Given the description of an element on the screen output the (x, y) to click on. 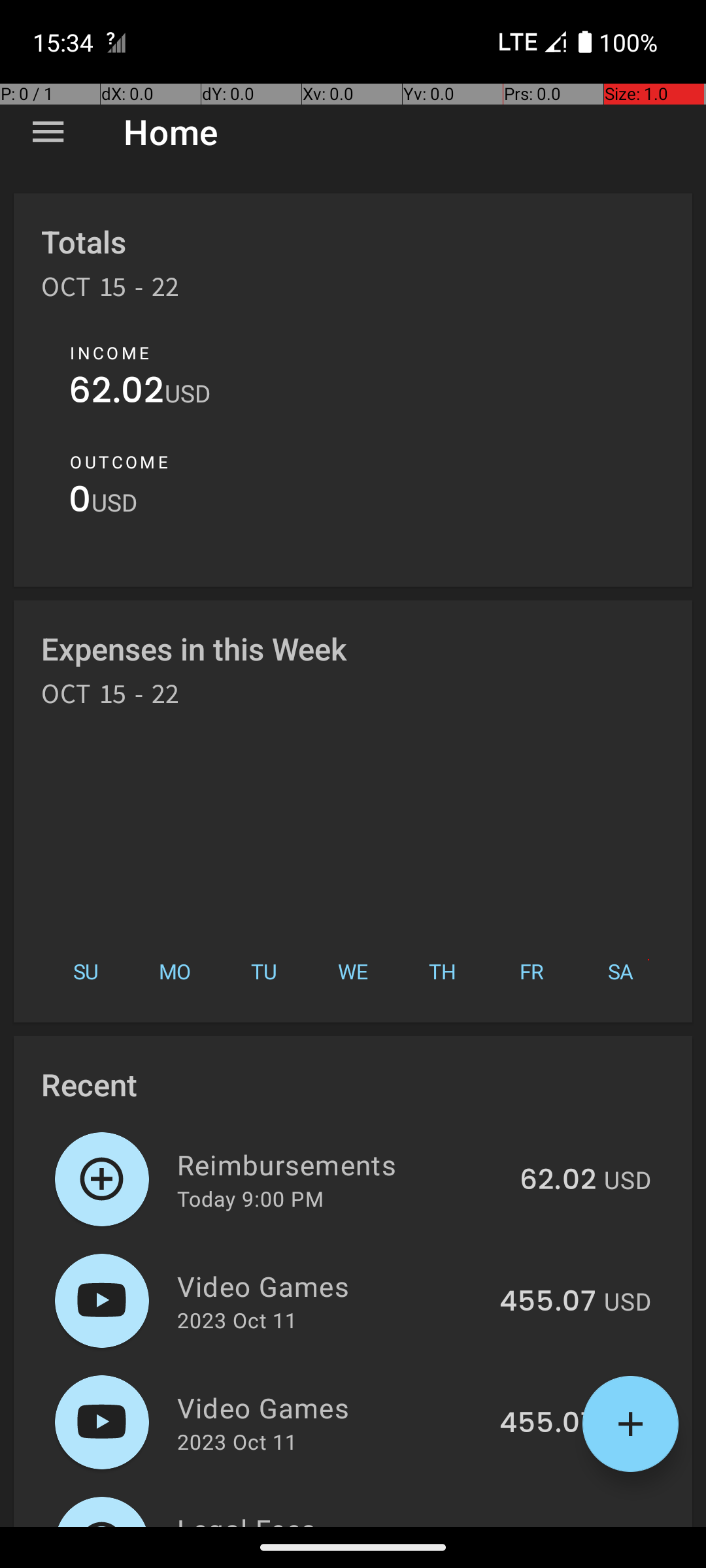
62.02 Element type: android.widget.TextView (116, 393)
Reimbursements Element type: android.widget.TextView (340, 1164)
455.07 Element type: android.widget.TextView (547, 1301)
Legal Fees Element type: android.widget.TextView (332, 1518)
270.76 Element type: android.widget.TextView (549, 1524)
